Given the description of an element on the screen output the (x, y) to click on. 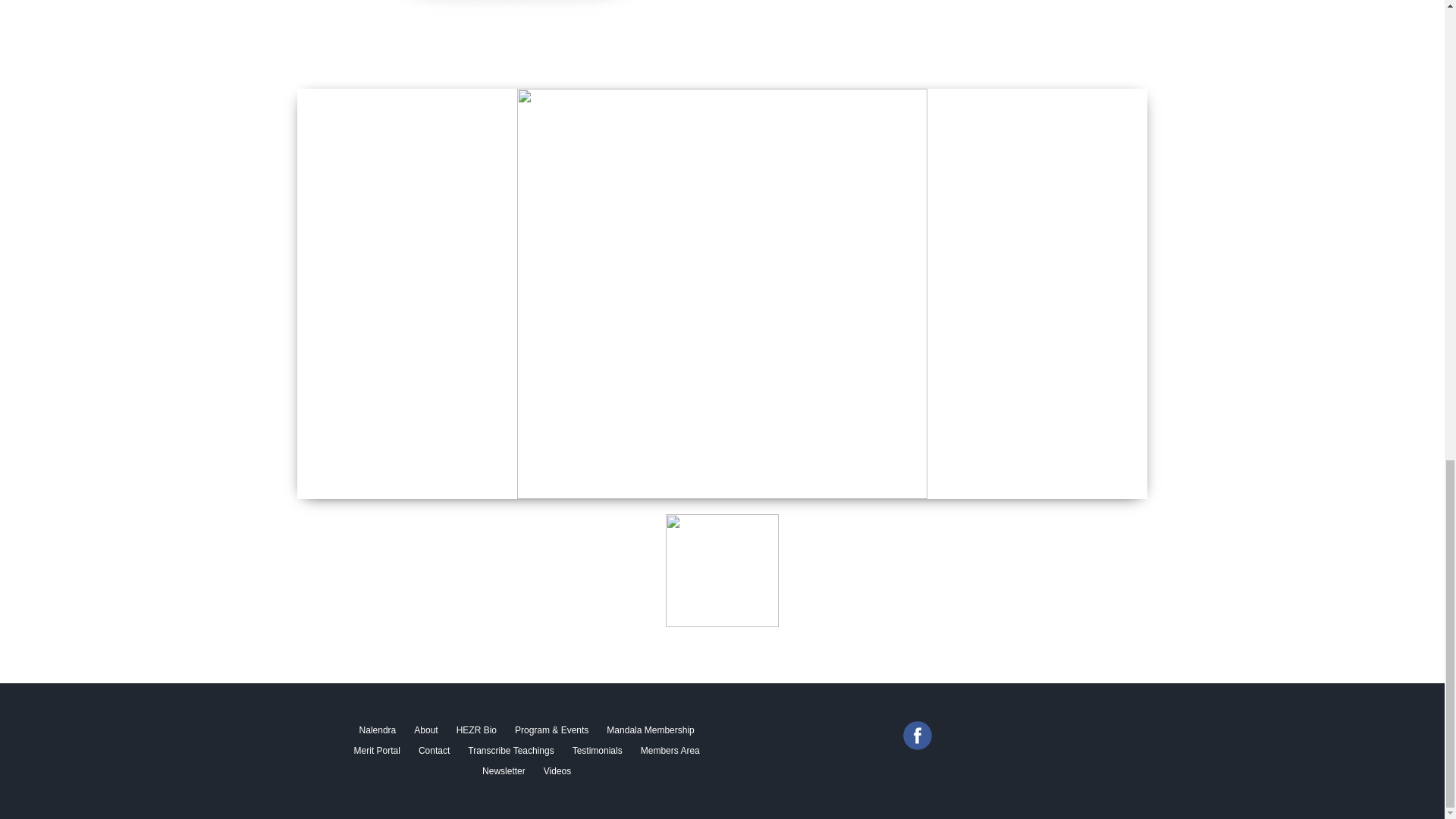
Nalendra (378, 730)
Members Area (670, 751)
Transcribe Teachings (510, 751)
HEZR Bio (475, 730)
Testimonials (597, 751)
Mandala Membership (649, 730)
About (425, 730)
Merit Portal (377, 751)
Videos (556, 771)
Newsletter (503, 771)
Contact (433, 751)
